Given the description of an element on the screen output the (x, y) to click on. 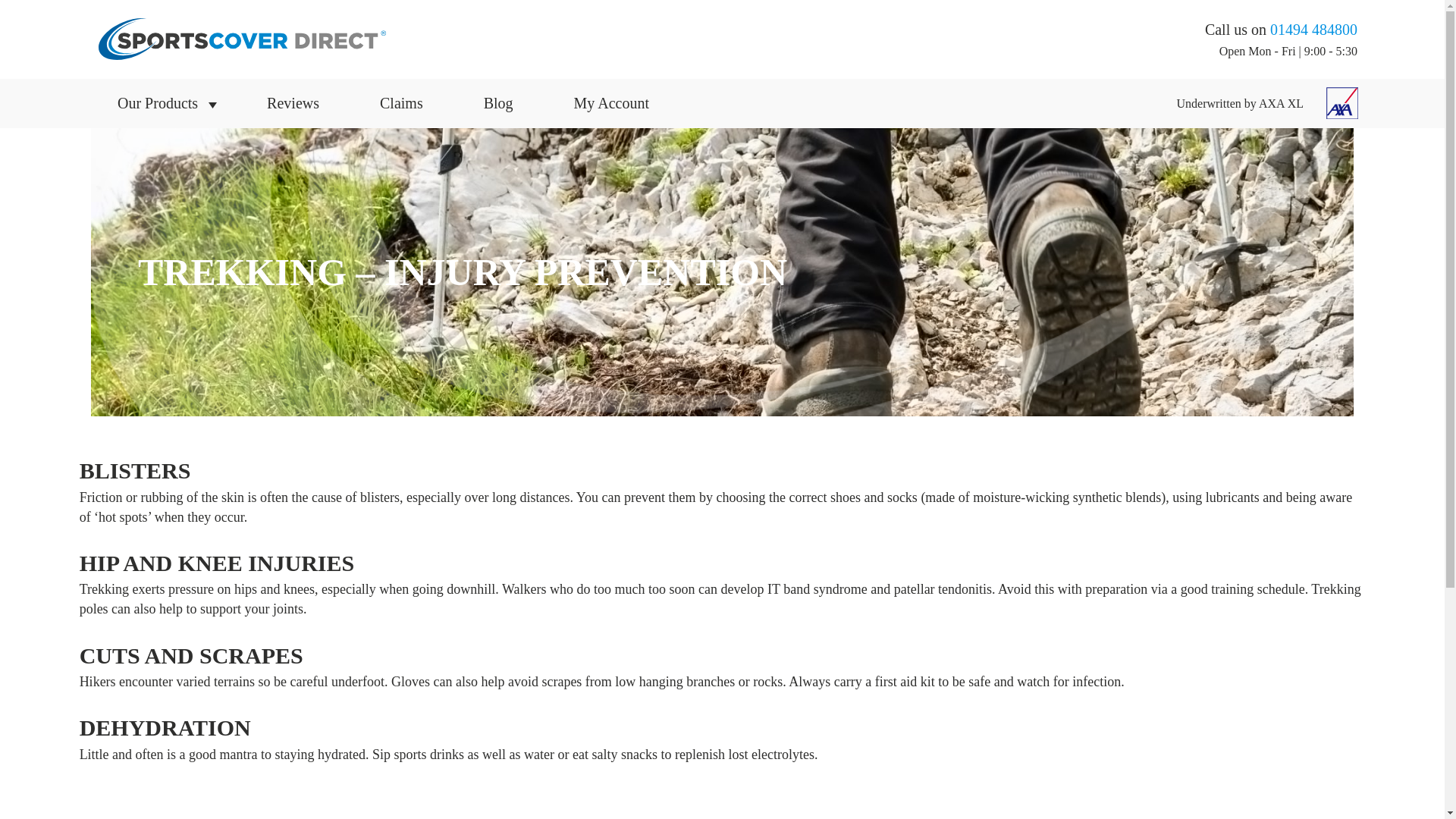
Our Products (161, 103)
Reviews (292, 103)
My Account (611, 103)
01494 484800 (1312, 29)
Claims (401, 103)
Blog (498, 103)
